Given the description of an element on the screen output the (x, y) to click on. 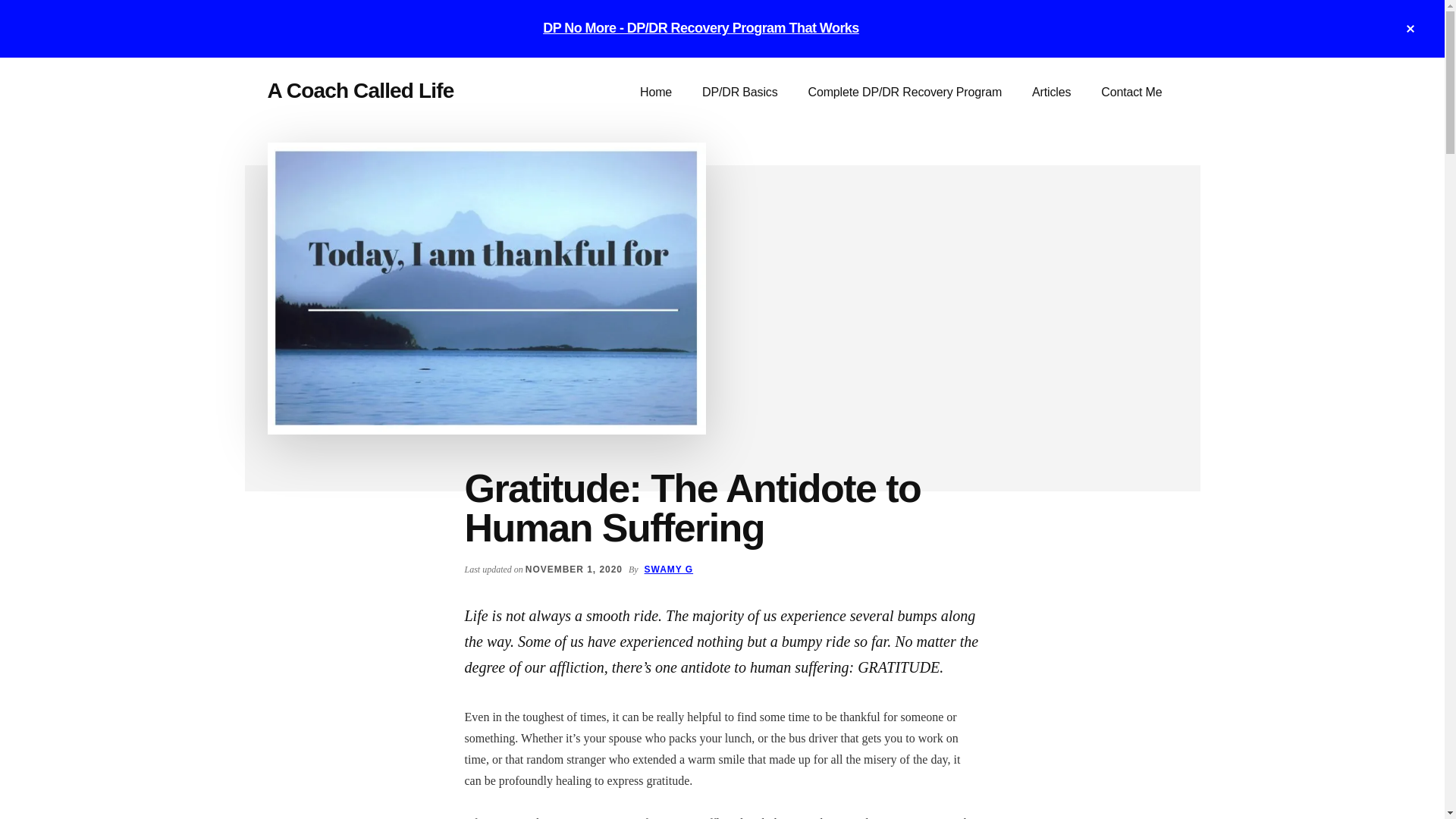
Contact Me (1131, 92)
Contact me (1131, 92)
SWAMY G (669, 569)
Blog articles (1051, 92)
A Coach Called Life (359, 90)
Home (655, 92)
Articles (1051, 92)
A Coach Called Life (655, 92)
